Given the description of an element on the screen output the (x, y) to click on. 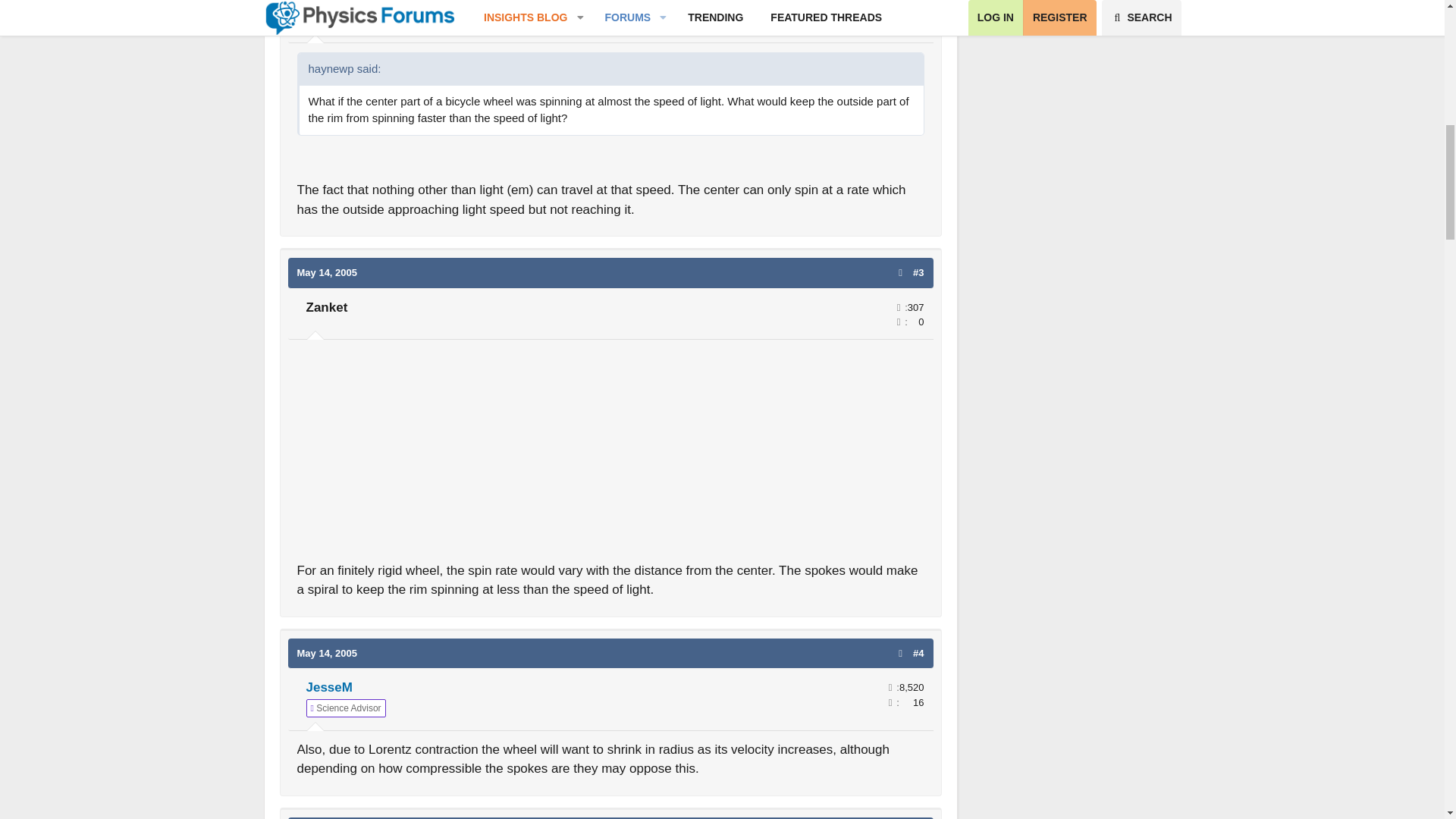
Messages (898, 307)
Messages (898, 10)
Reaction score (898, 321)
Advertisement (610, 454)
May 14, 2005 at 12:11 AM (327, 272)
Reaction score (898, 26)
May 14, 2005 at 12:37 AM (327, 653)
